Given the description of an element on the screen output the (x, y) to click on. 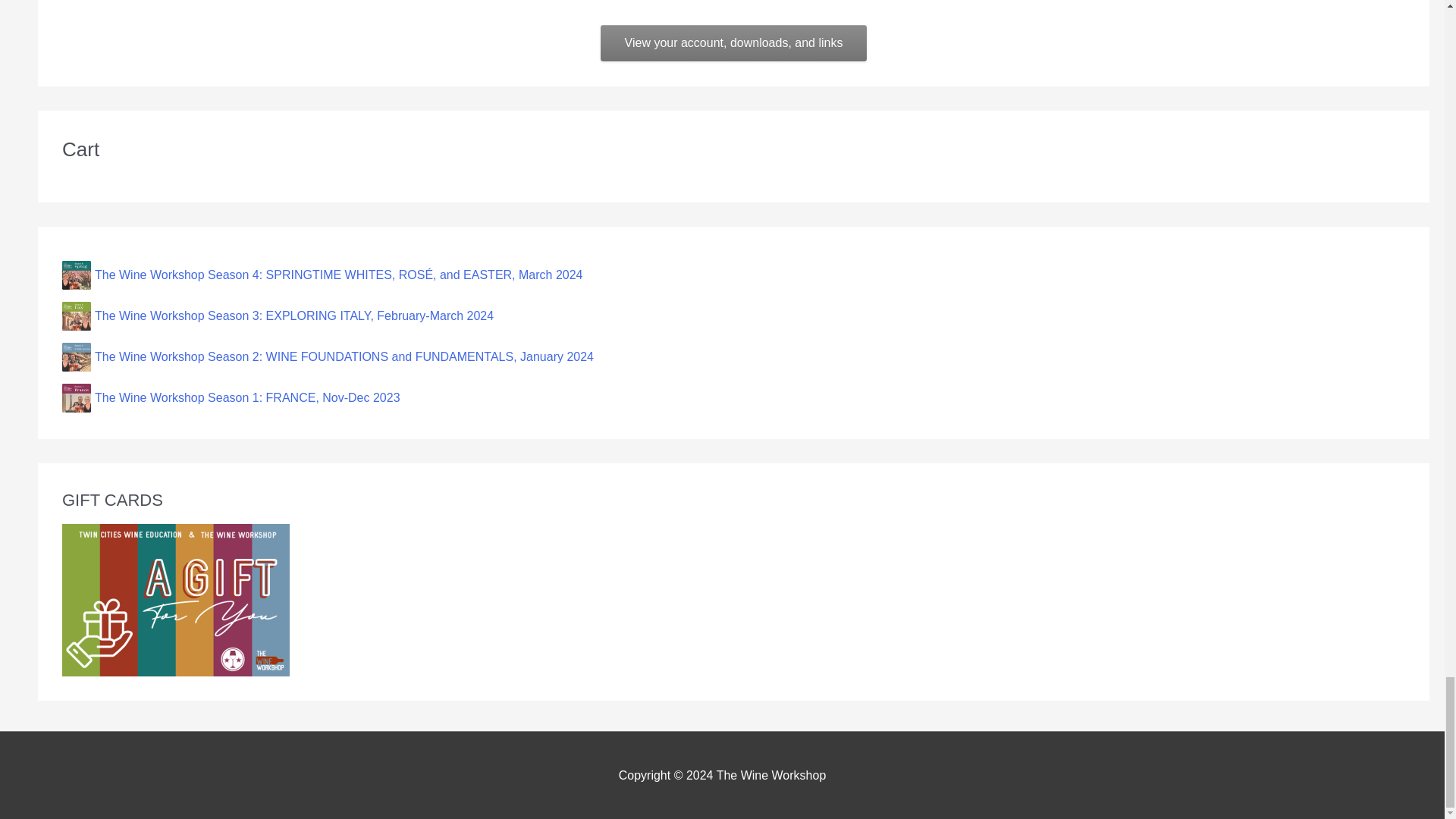
The Wine Workshop Season 1: FRANCE, Nov-Dec 2023 (733, 398)
GIFT CARDS NOW AVAILABLE! (175, 600)
View your account, downloads, and links (733, 43)
The Wine Workshop Season 1: FRANCE, Nov-Dec 2023 (733, 398)
